Given the description of an element on the screen output the (x, y) to click on. 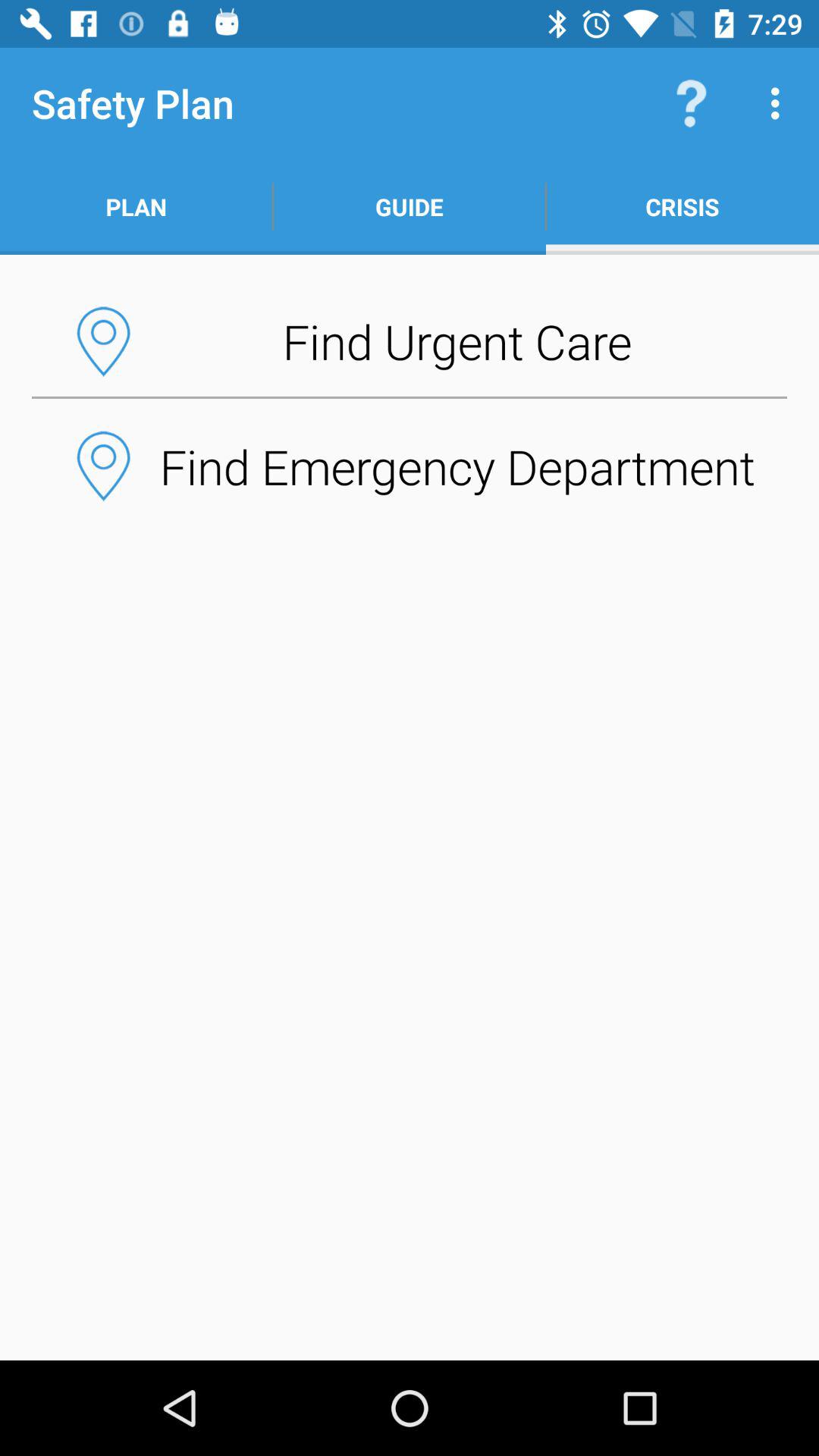
turn on the item above the crisis (779, 103)
